Given the description of an element on the screen output the (x, y) to click on. 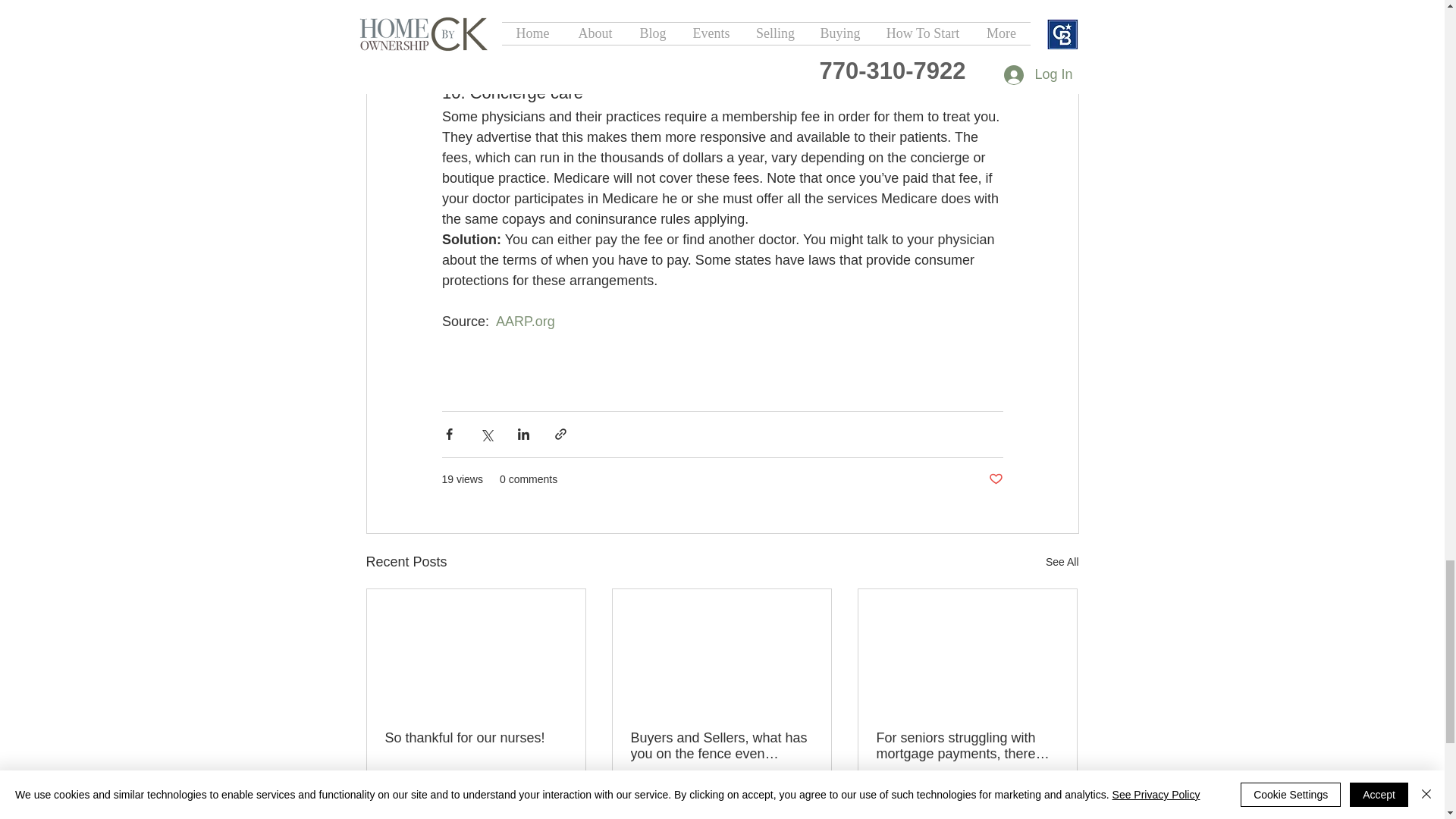
AARP.org (525, 321)
 Medicaid might help fill in the gaps. (826, 52)
Post not marked as liked (995, 479)
See All (1061, 562)
0 (435, 798)
So thankful for our nurses! (476, 738)
Post not marked as liked (558, 798)
